Given the description of an element on the screen output the (x, y) to click on. 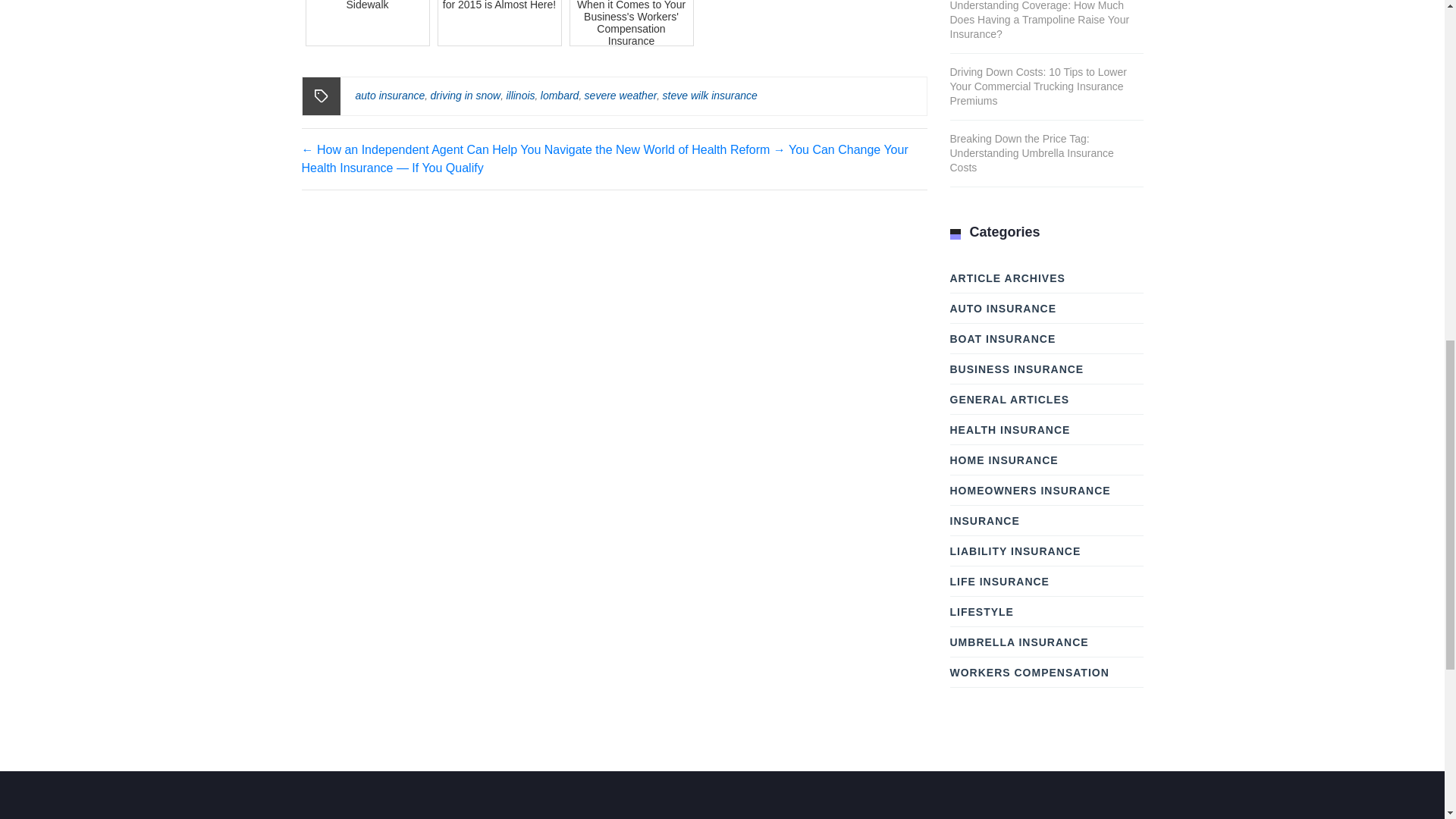
driving in snow (465, 95)
illinois (519, 95)
severe weather (621, 95)
How to De-Ice Your Sidewalk (366, 22)
steve wilk insurance (709, 95)
auto insurance (390, 95)
Open Enrollment Period for 2015 is Almost Here! (498, 22)
lombard (559, 95)
